Given the description of an element on the screen output the (x, y) to click on. 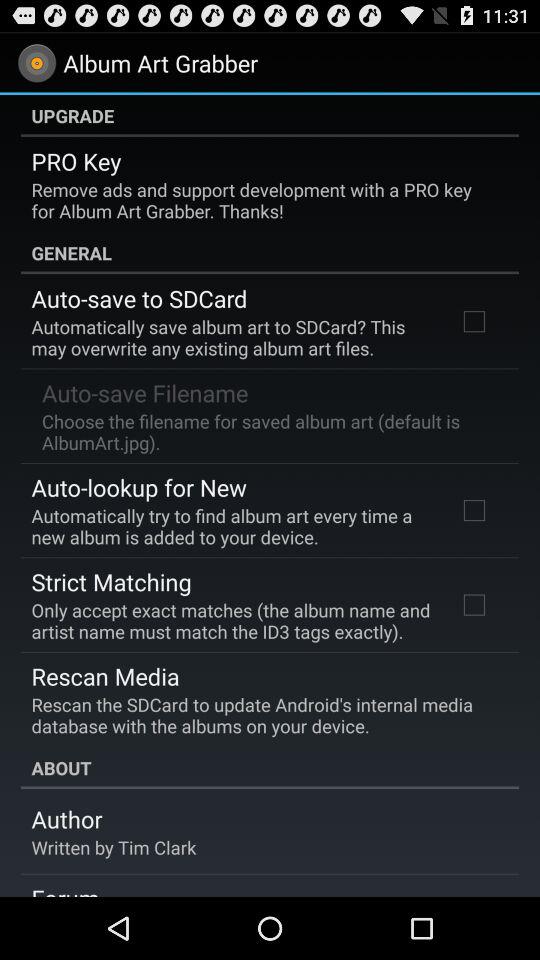
press the icon below the auto-save filename (268, 431)
